Given the description of an element on the screen output the (x, y) to click on. 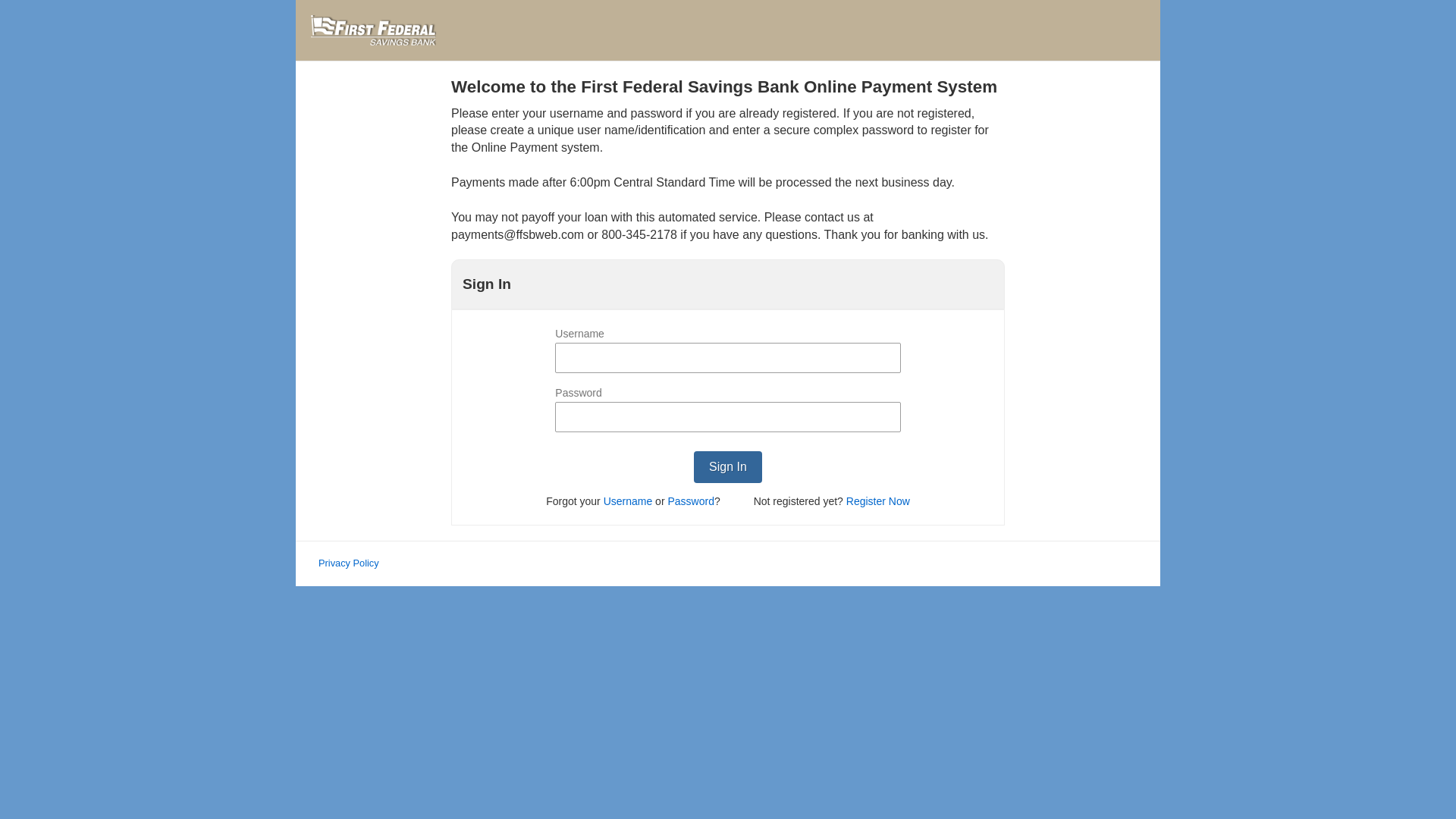
Privacy Policy (348, 562)
Register Now (877, 500)
Username (628, 500)
Password (689, 500)
Escrow Payments's Logo (373, 30)
Sign In (727, 466)
Sign In (727, 466)
